Given the description of an element on the screen output the (x, y) to click on. 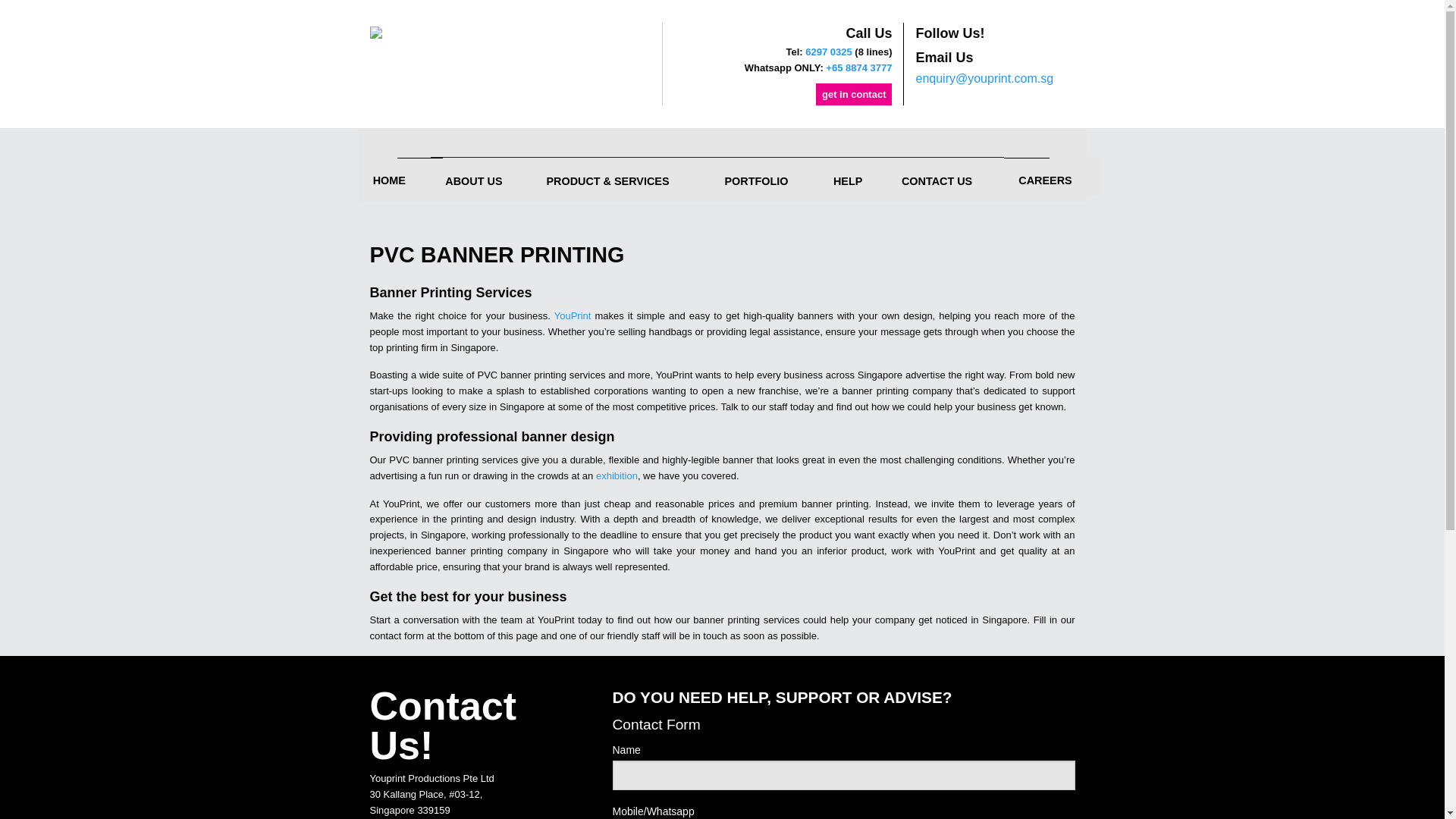
PORTFOLIO (764, 176)
HOME (394, 176)
get in contact (853, 92)
6297 0325 (828, 51)
ABOUT US (480, 176)
